Given the description of an element on the screen output the (x, y) to click on. 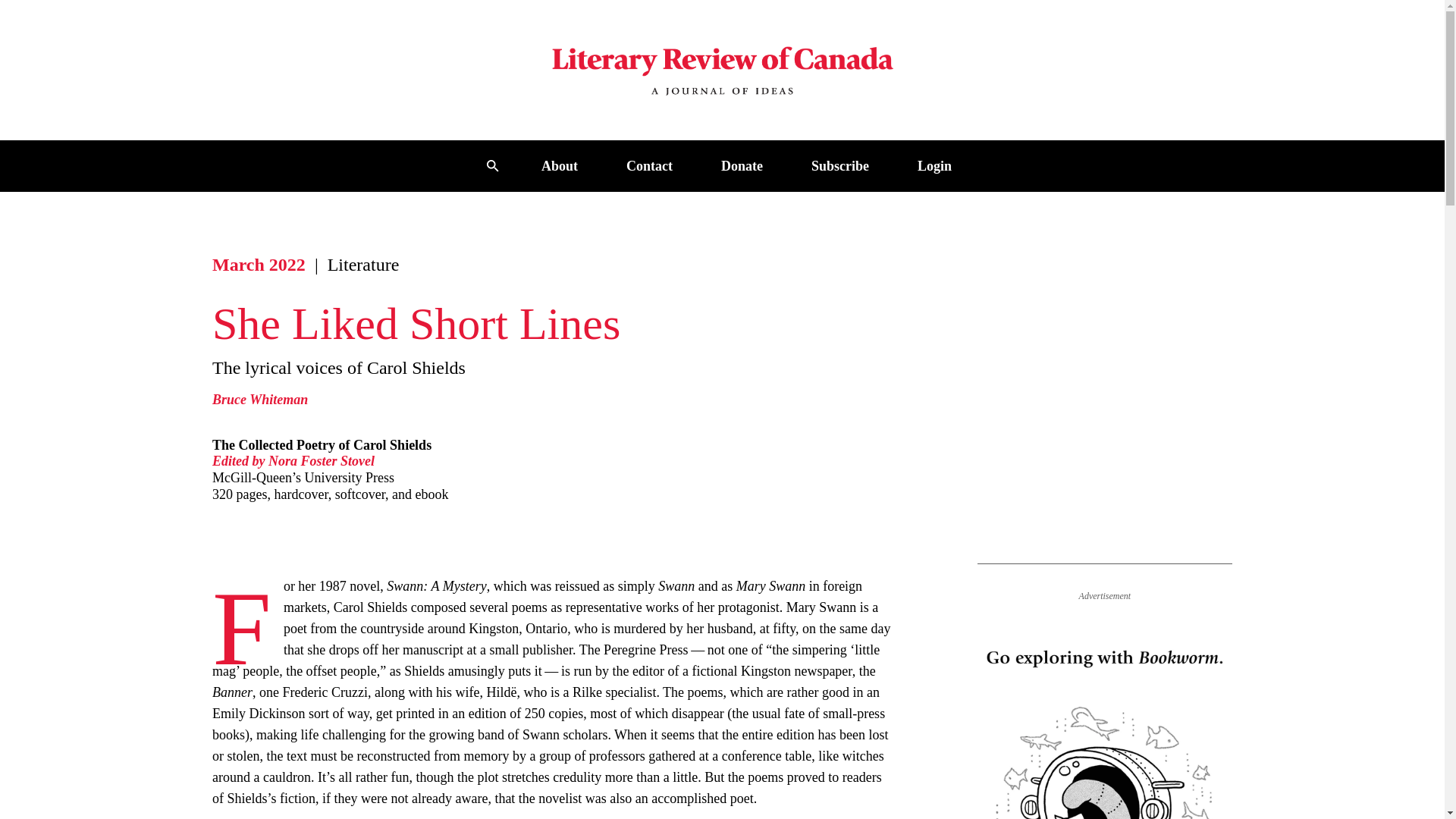
March 2022 (258, 264)
Donate (742, 165)
Login (934, 165)
Subscribe (840, 165)
Bruce Whiteman (259, 399)
Contact (649, 165)
About (559, 165)
